Given the description of an element on the screen output the (x, y) to click on. 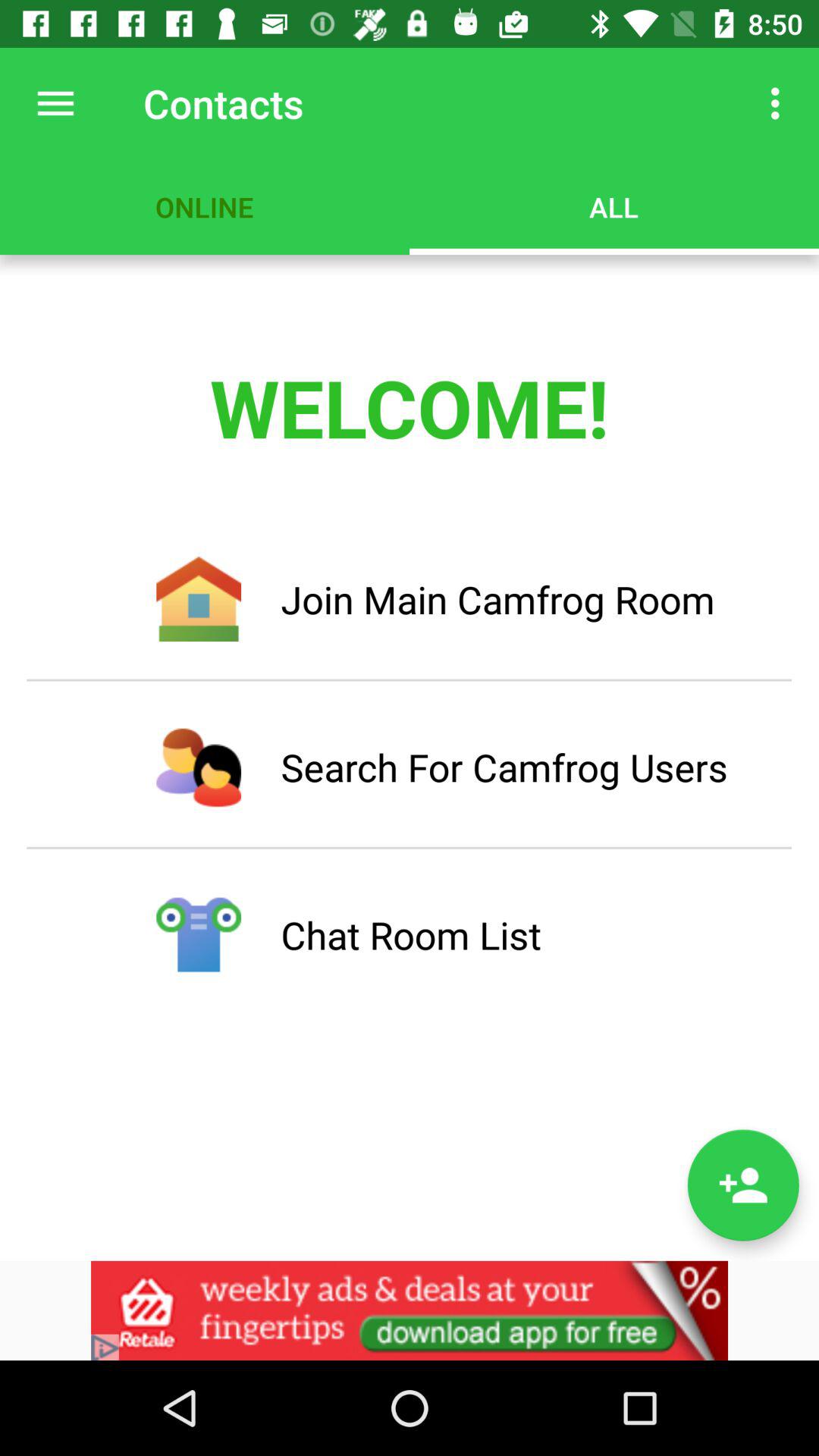
app footer advertisement window (409, 1310)
